Given the description of an element on the screen output the (x, y) to click on. 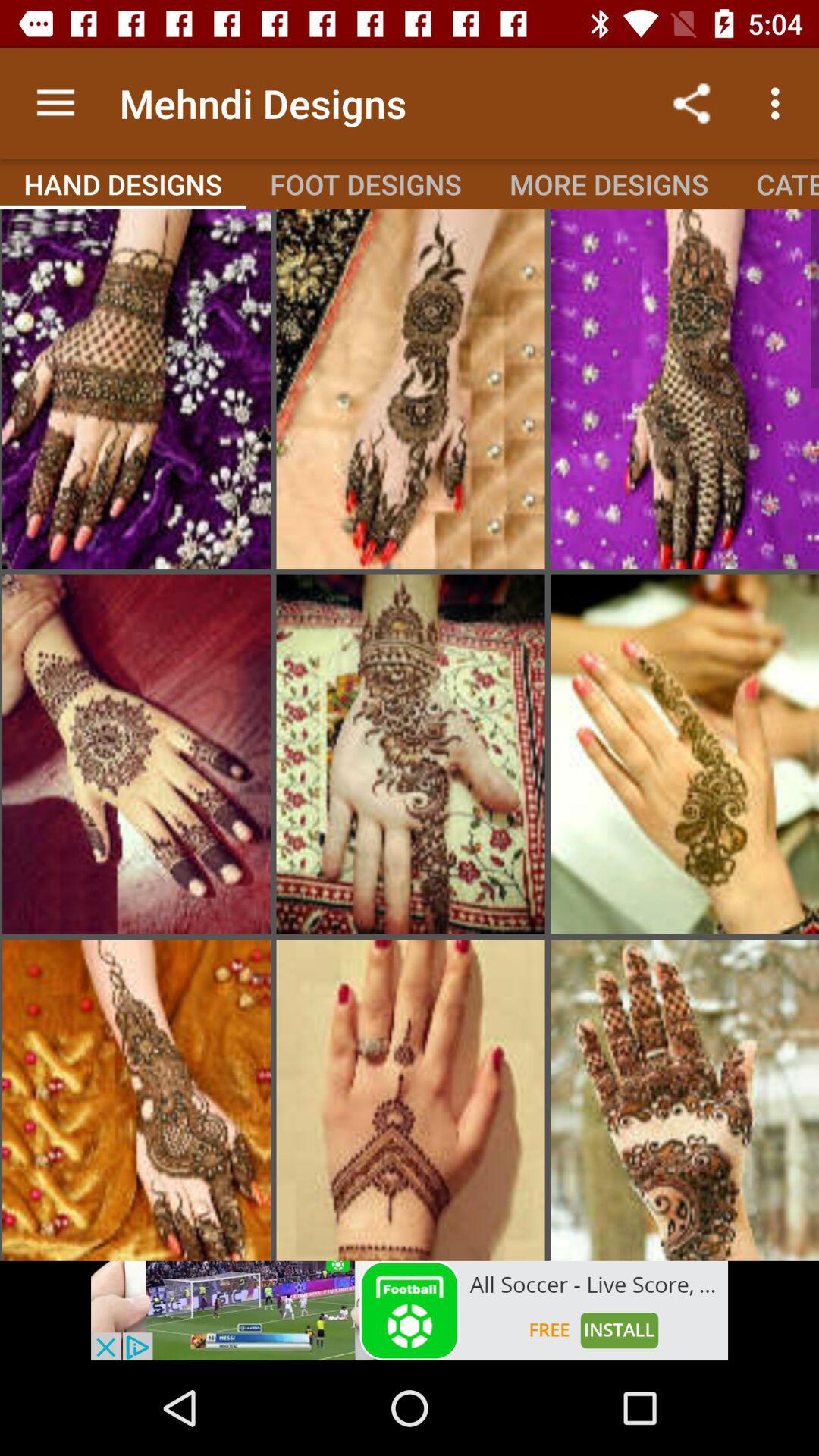
select the picture (684, 753)
